Given the description of an element on the screen output the (x, y) to click on. 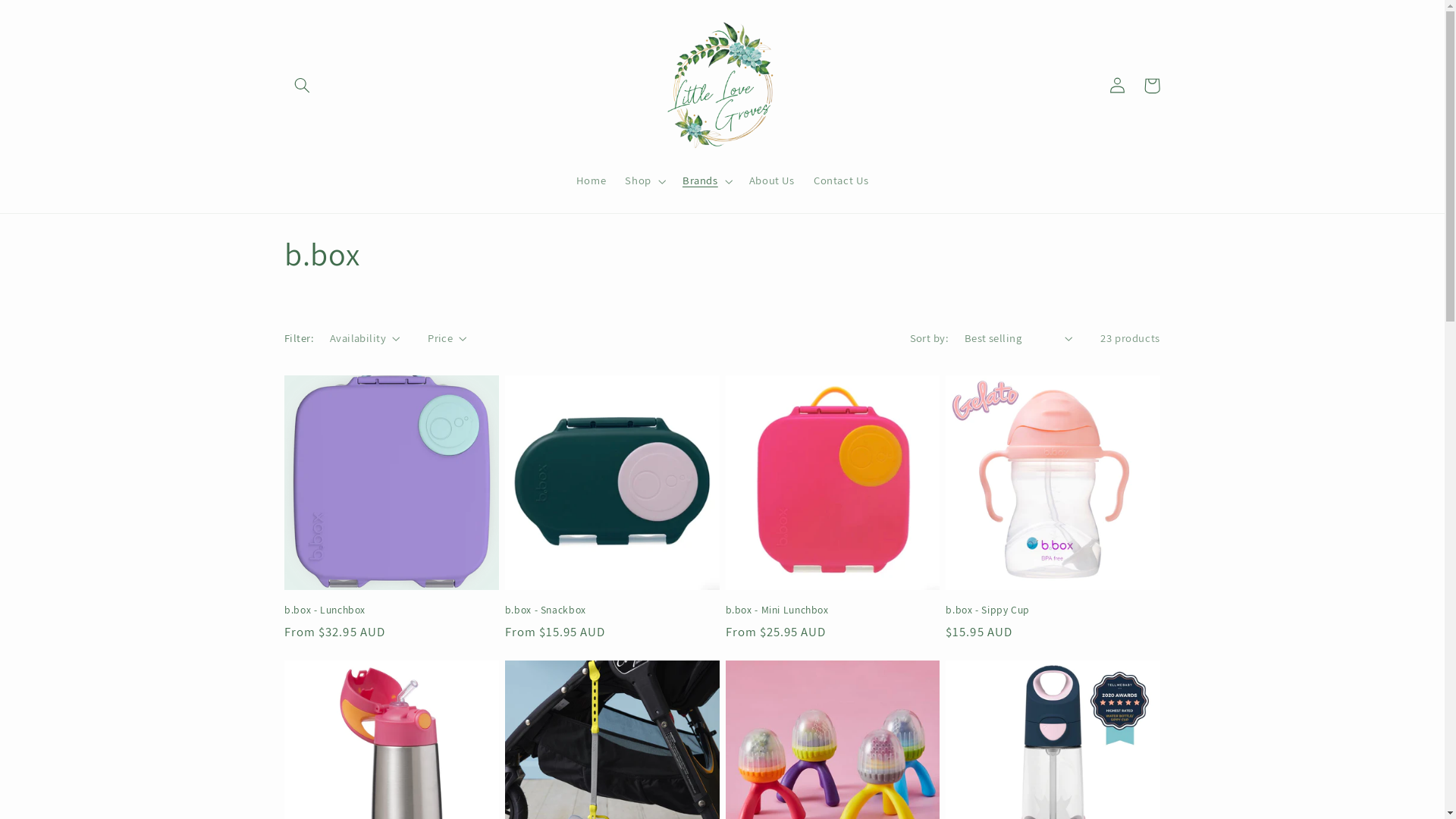
b.box - Sippy Cup Element type: text (1052, 610)
Cart Element type: text (1151, 85)
b.box - Lunchbox Element type: text (391, 610)
About Us Element type: text (771, 180)
b.box - Mini Lunchbox Element type: text (831, 610)
b.box - Snackbox Element type: text (612, 610)
Log in Element type: text (1116, 85)
Home Element type: text (590, 180)
Contact Us Element type: text (840, 180)
